Given the description of an element on the screen output the (x, y) to click on. 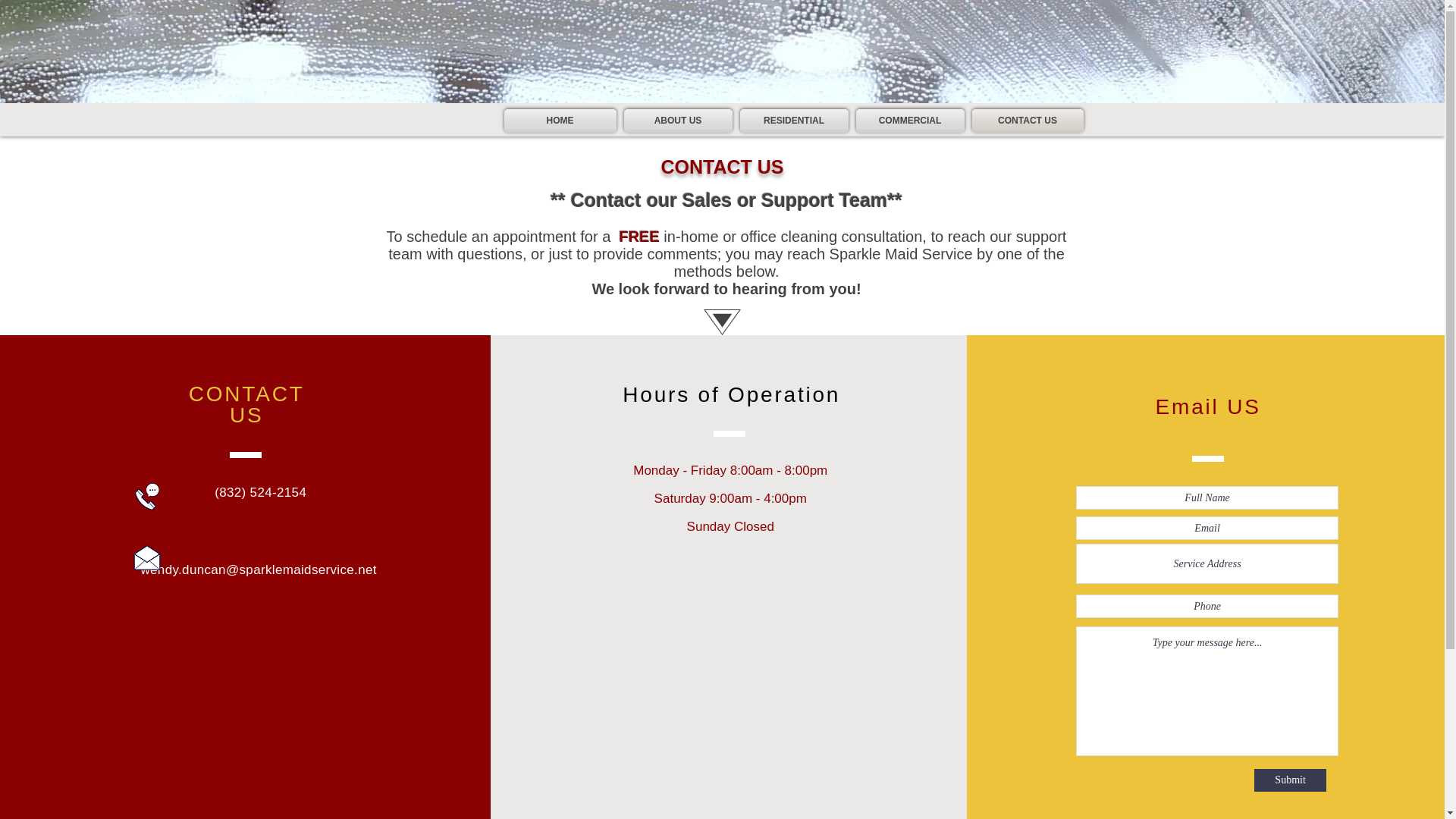
HOME (561, 120)
RESIDENTIAL (793, 120)
ABOUT US (678, 120)
CONTACT US (1025, 120)
COMMERCIAL (909, 120)
Submit (1289, 780)
